Given the description of an element on the screen output the (x, y) to click on. 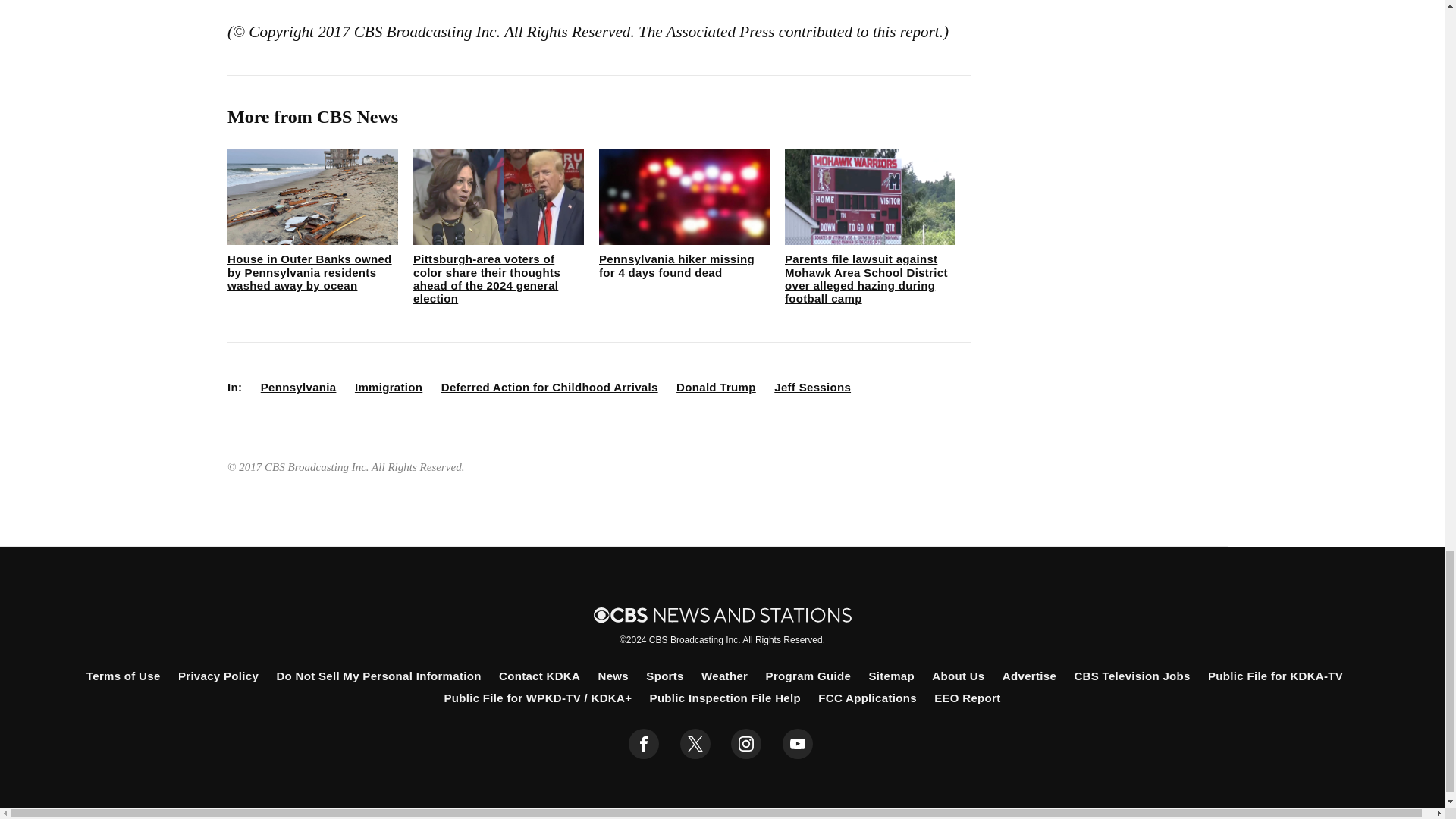
youtube (797, 743)
instagram (745, 743)
twitter (694, 743)
facebook (643, 743)
